Given the description of an element on the screen output the (x, y) to click on. 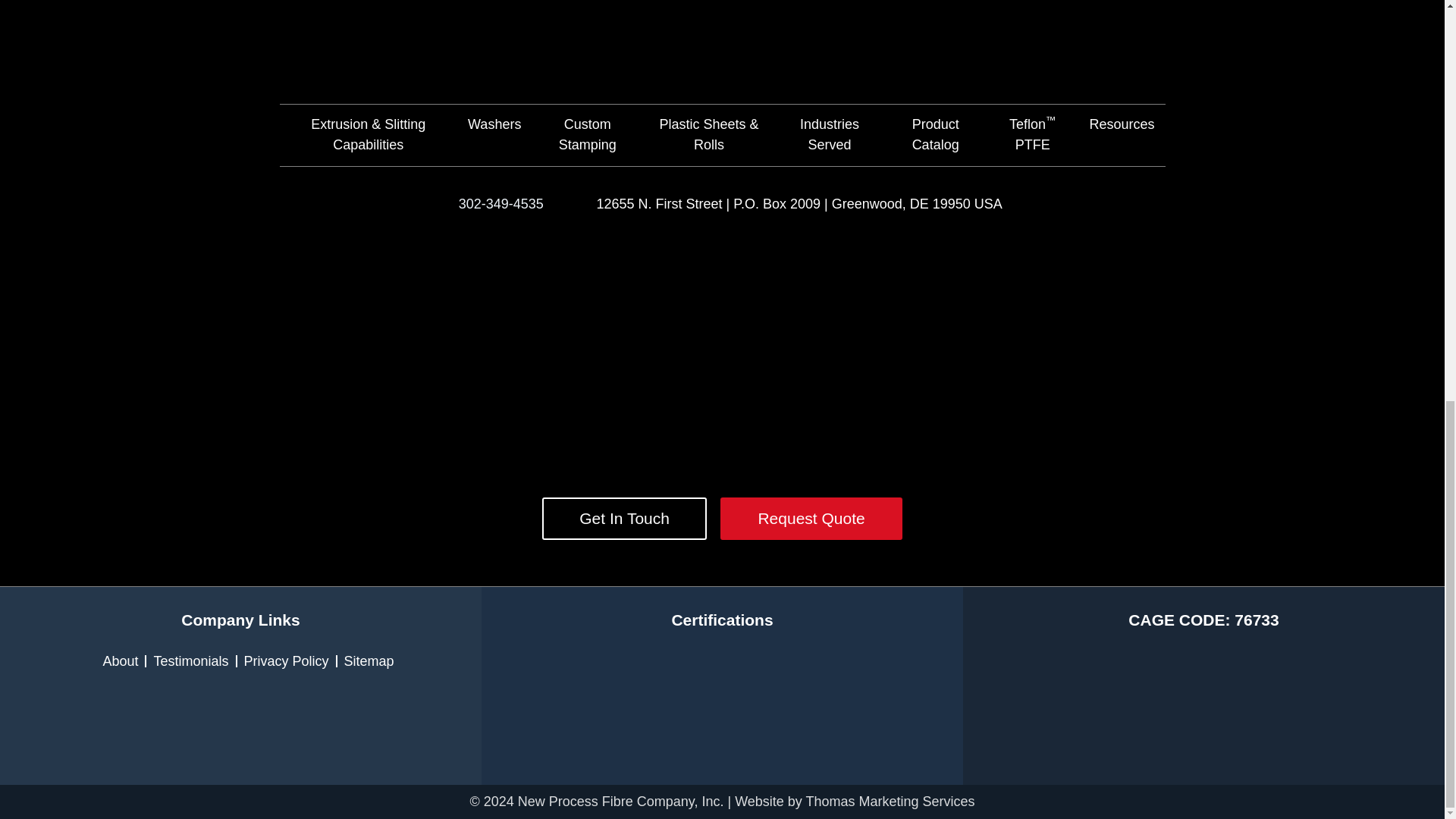
Youtube (845, 409)
Blog (598, 409)
Facebook (475, 295)
Twitter (721, 295)
Telfon (747, 707)
Linked-In (967, 295)
credit-card (1203, 707)
